Given the description of an element on the screen output the (x, y) to click on. 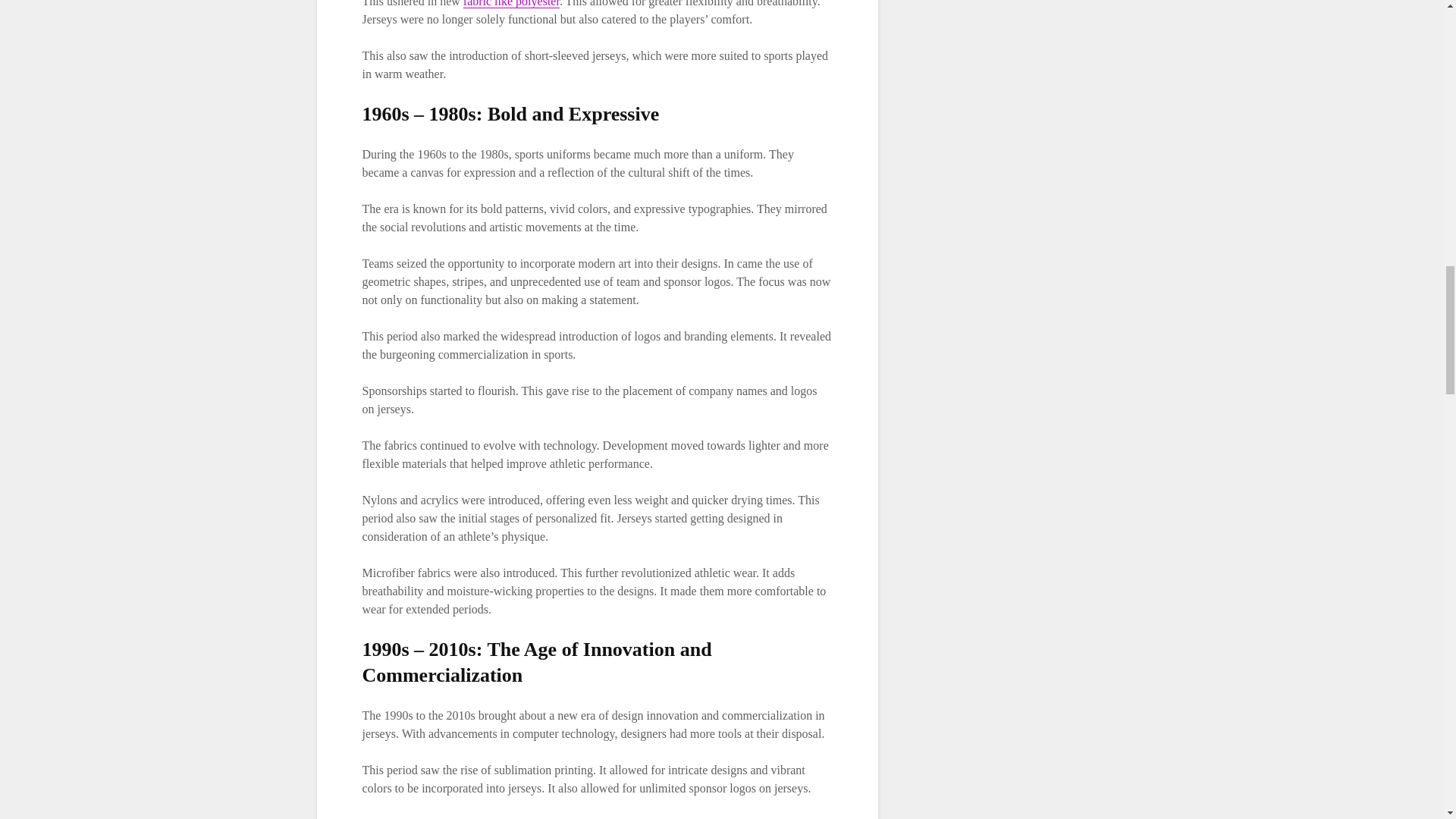
fabric like polyester (511, 4)
